Given the description of an element on the screen output the (x, y) to click on. 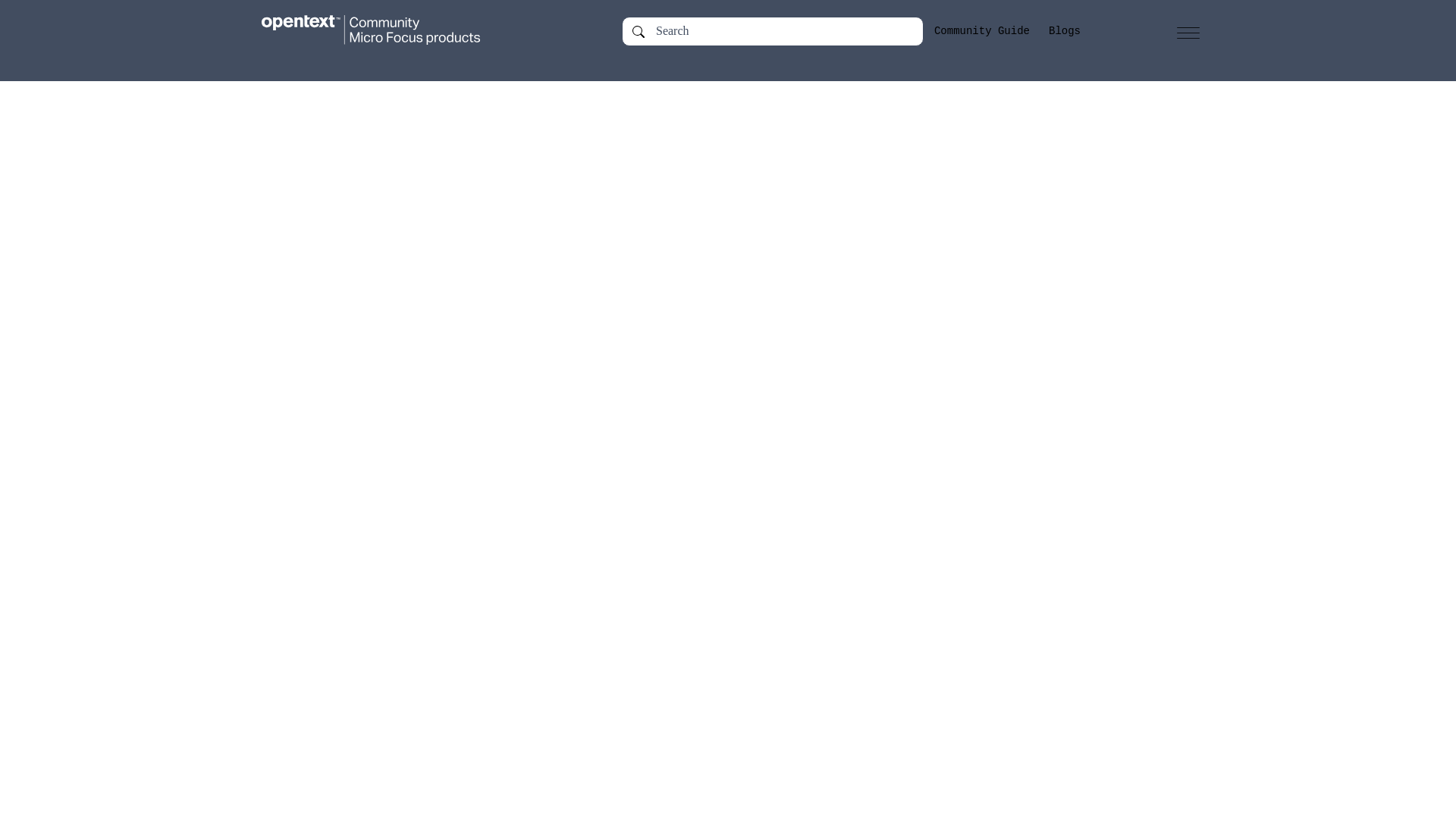
Home (385, 30)
Community Guide (981, 31)
Blogs (1064, 31)
